Given the description of an element on the screen output the (x, y) to click on. 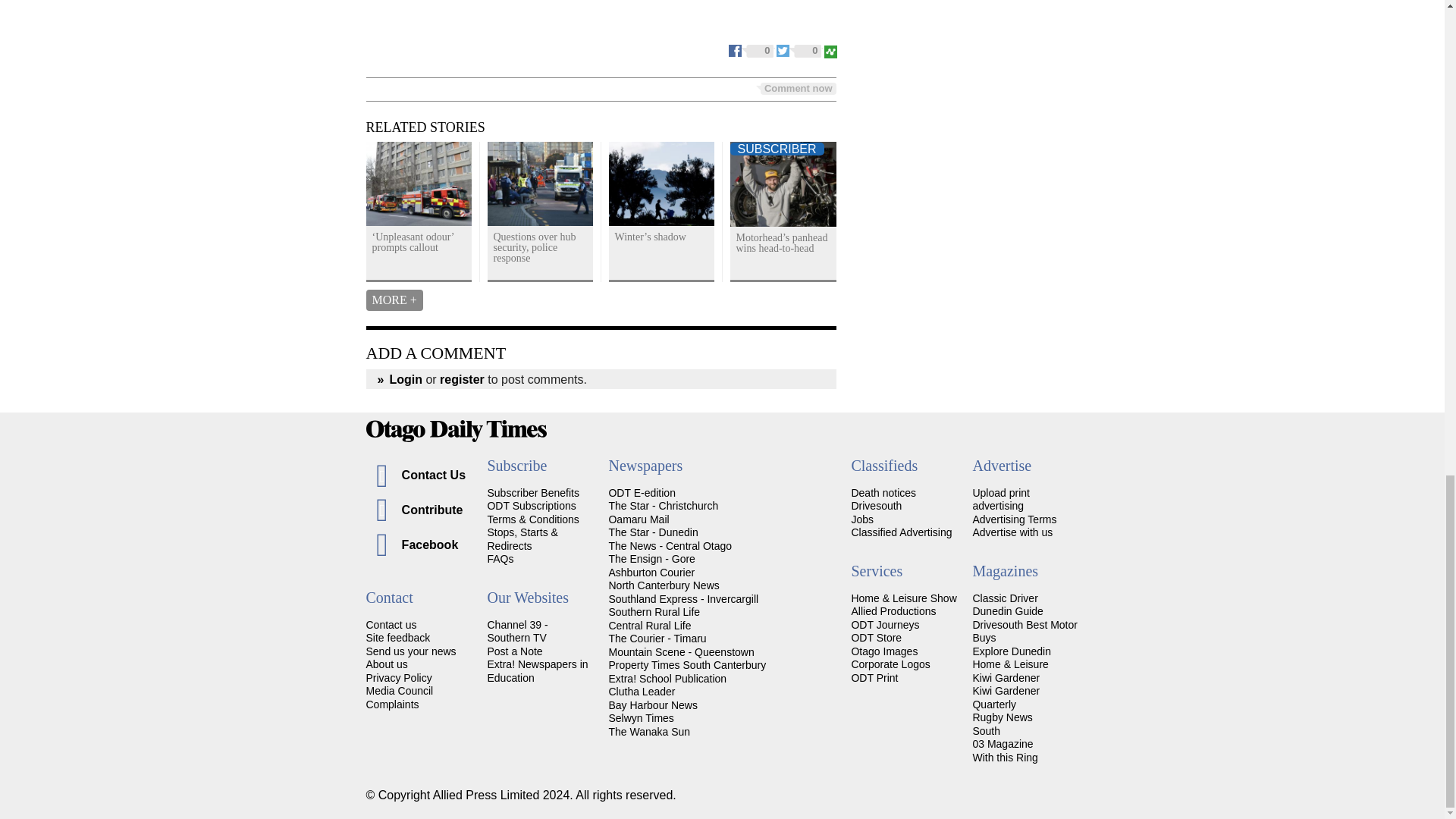
Get in touch (390, 624)
Let us know what you think (397, 637)
Get the ODT delivered right to you! (532, 492)
Home (721, 431)
Send us your news and photos. (410, 651)
Ways to subscribe to the Otago Daily Times (530, 505)
ShareThis (829, 49)
Facebook (752, 49)
Twitter (800, 49)
